Given the description of an element on the screen output the (x, y) to click on. 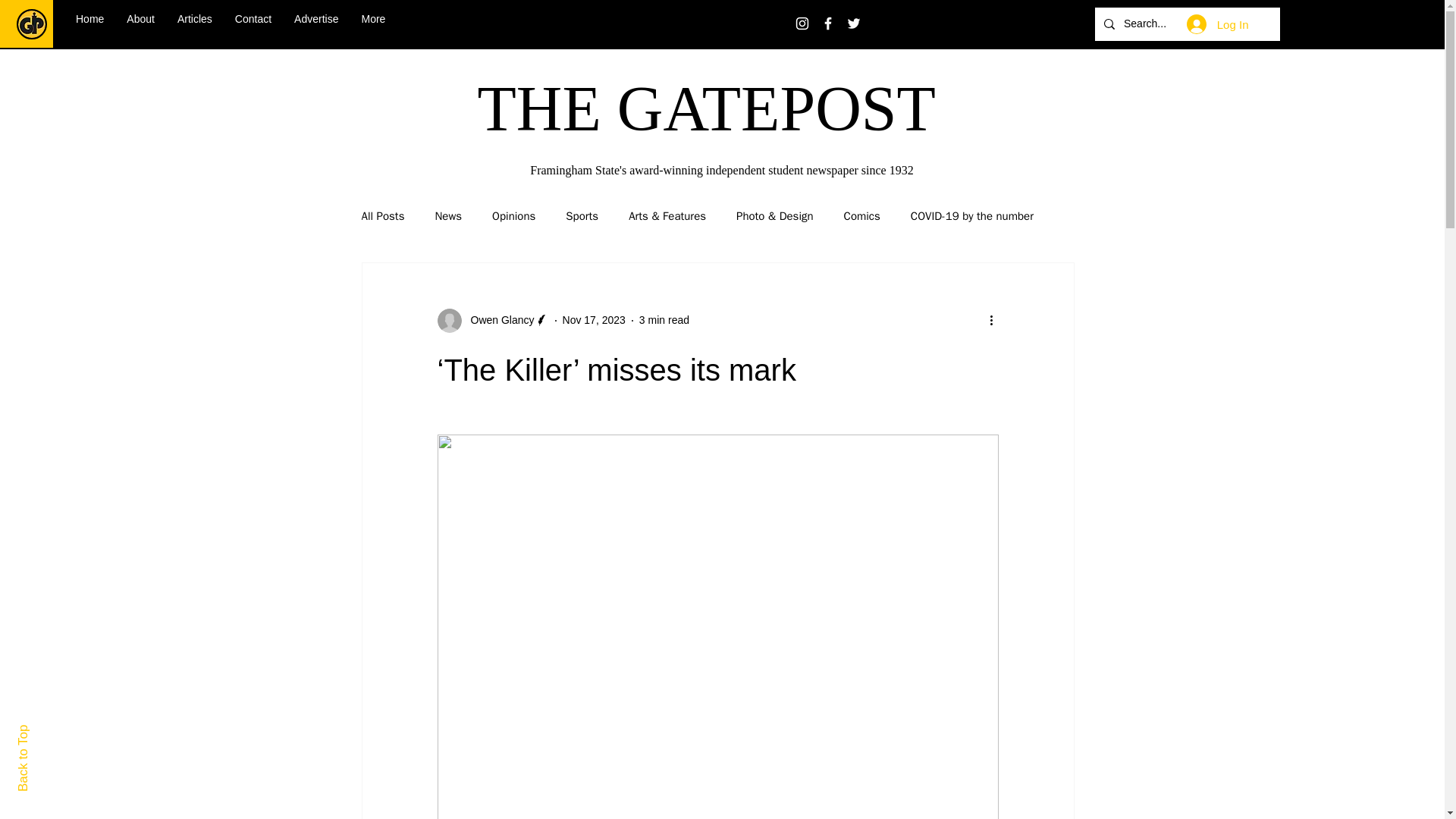
Opinions (513, 216)
Articles (194, 24)
Contact (253, 24)
Log In (1217, 23)
All Posts (382, 216)
Home (89, 24)
News (447, 216)
Owen Glancy (497, 320)
Nov 17, 2023 (594, 319)
Owen Glancy (492, 320)
